Given the description of an element on the screen output the (x, y) to click on. 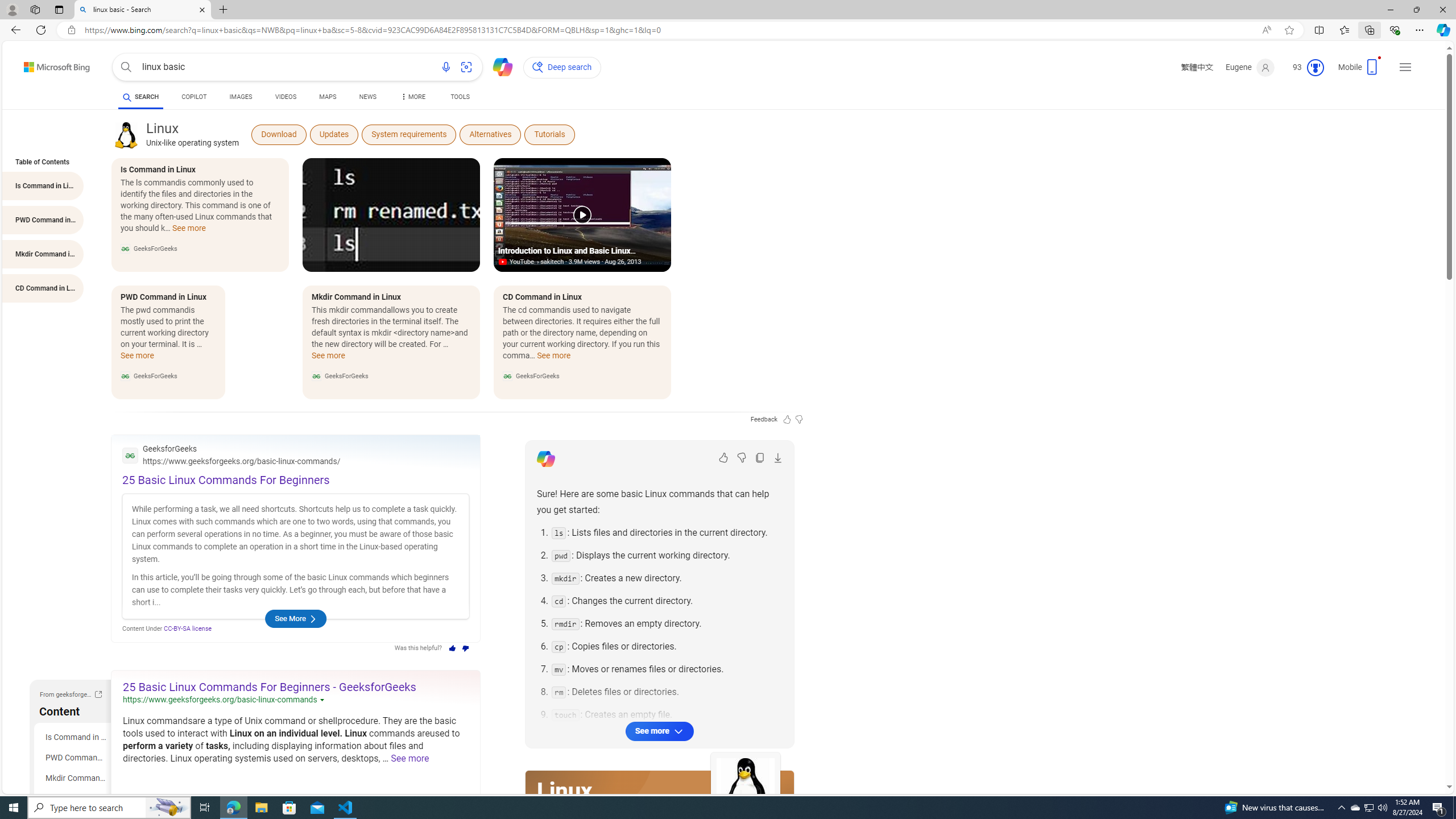
MAPS (327, 96)
Updates (333, 134)
See more Mkdir Command in Linux (328, 358)
AutomationID: b-scopeListItem-menu (412, 98)
Eugene (1249, 67)
Search using an image (465, 66)
Microsoft Rewards 93 (1303, 67)
COPILOT (193, 96)
